Given the description of an element on the screen output the (x, y) to click on. 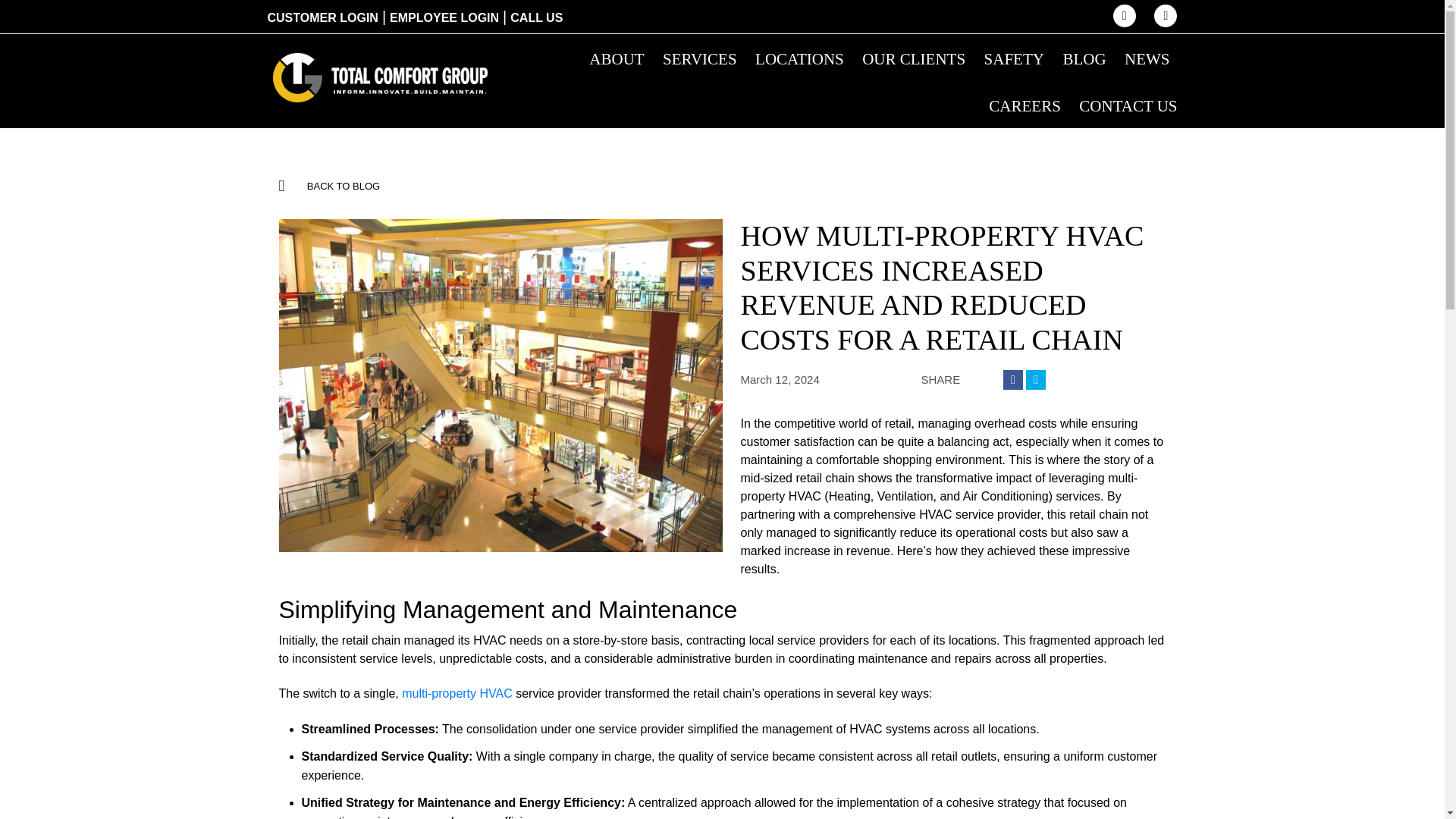
OUR CLIENTS (913, 59)
CONTACT US (1127, 106)
SERVICES (699, 59)
CALL US (536, 17)
NEWS (1147, 59)
multi-property HVAC (456, 693)
BLOG (1083, 59)
CUSTOMER LOGIN (321, 17)
LOCATIONS (799, 59)
SAFETY (1013, 59)
EMPLOYEE LOGIN (444, 17)
ABOUT (616, 59)
CAREERS (1024, 106)
